Given the description of an element on the screen output the (x, y) to click on. 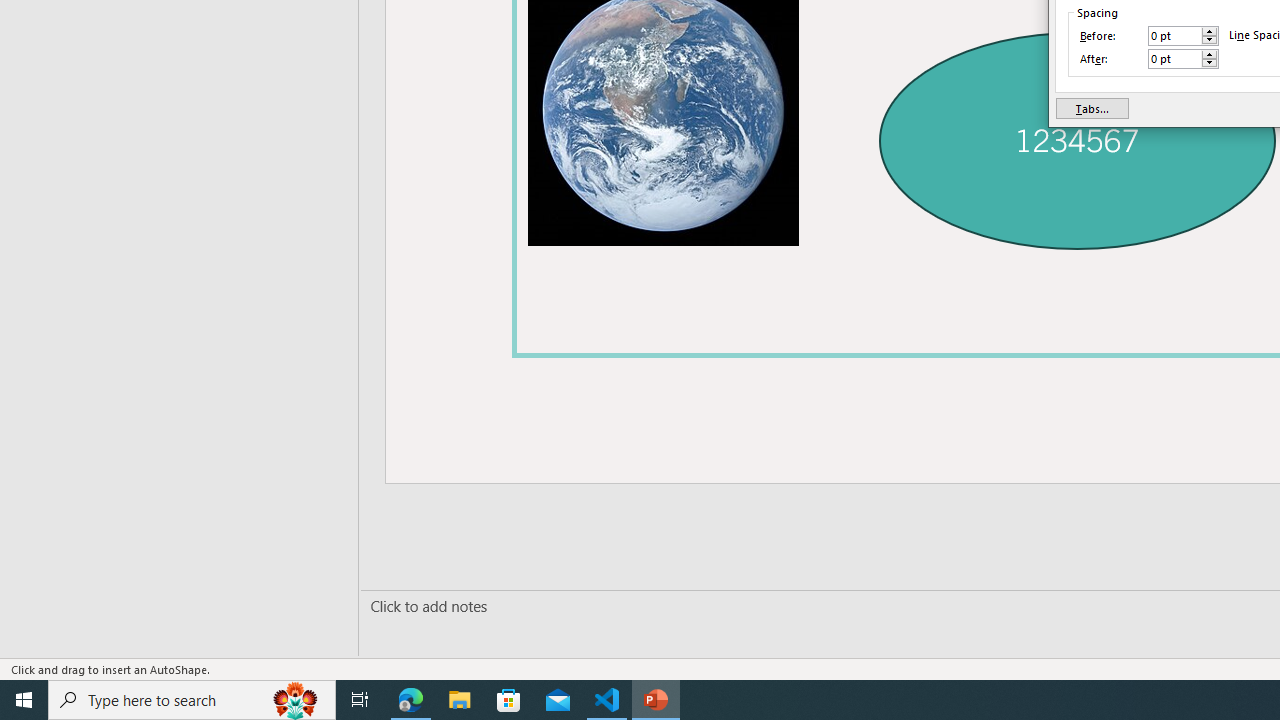
Tabs... (1092, 108)
After (1183, 58)
Before (1183, 35)
Before (1174, 35)
After (1174, 58)
